Given the description of an element on the screen output the (x, y) to click on. 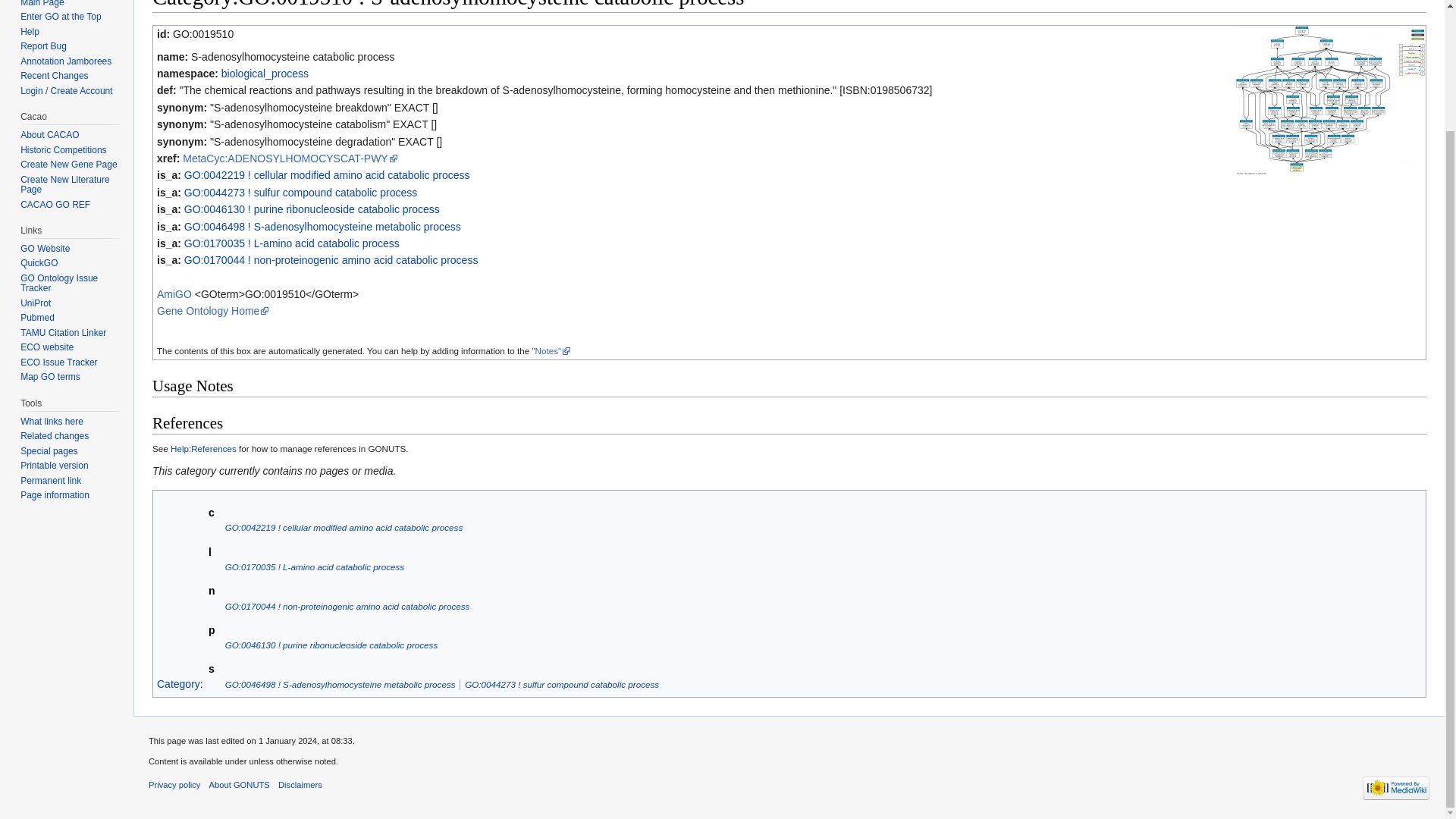
Gene Ontology Home (213, 310)
Help:References (202, 448)
Enter GO at the Top (60, 16)
Report Bug (43, 45)
AmiGO (174, 294)
Category:GO:0170035 ! L-amino acid catabolic process (314, 566)
Category:GO:0044273 ! sulfur compound catabolic process (300, 192)
GO:0042219 ! cellular modified amino acid catabolic process (344, 527)
Category:GO:0044273 ! sulfur compound catabolic process (561, 684)
GO:0170044 ! non-proteinogenic amino acid catabolic process (347, 605)
Help (1404, 0)
Help (29, 31)
